Given the description of an element on the screen output the (x, y) to click on. 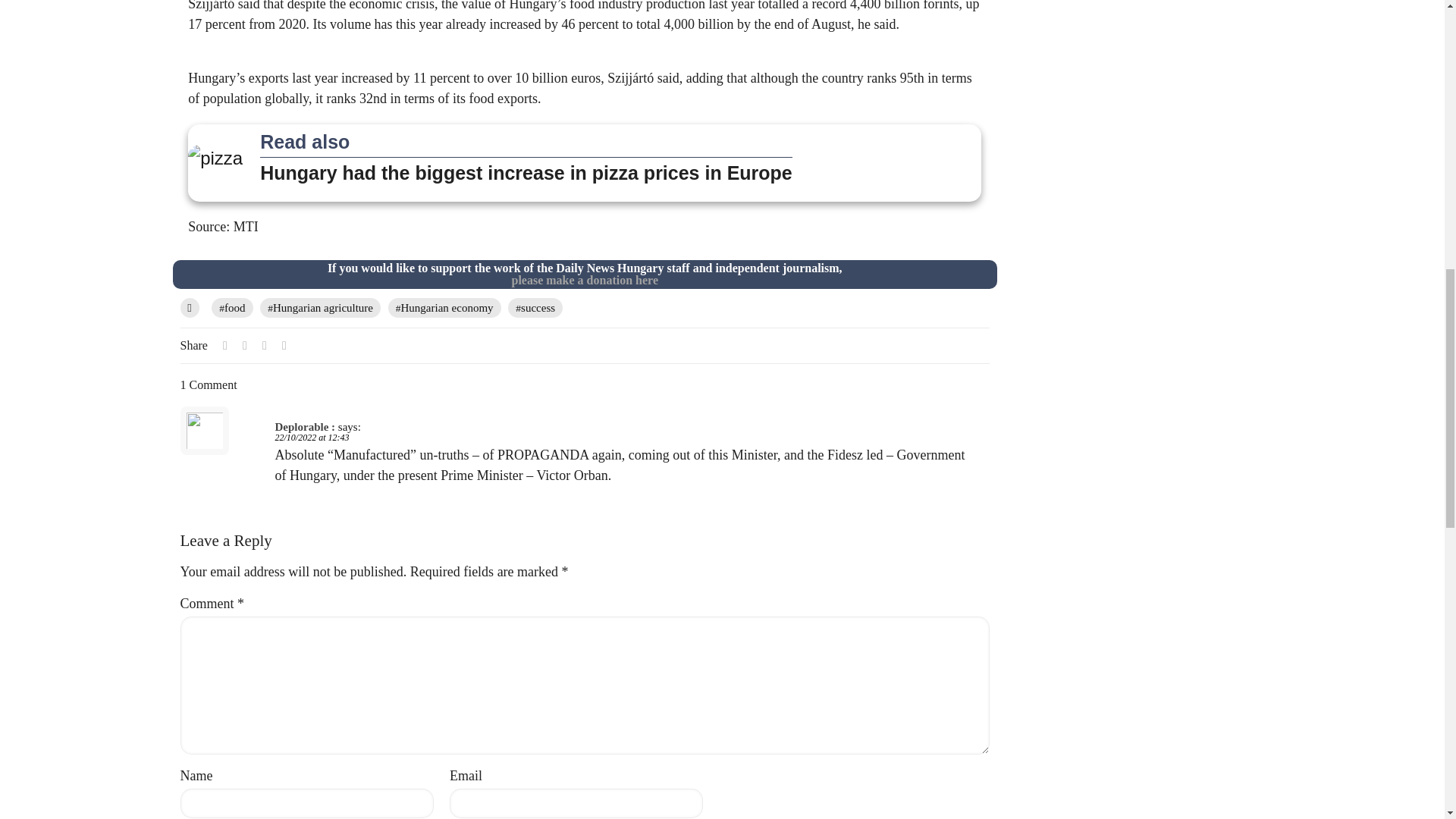
Hungarian agriculture (320, 307)
food (231, 307)
success (535, 307)
please make a donation here (584, 279)
Hungarian economy (444, 307)
